Given the description of an element on the screen output the (x, y) to click on. 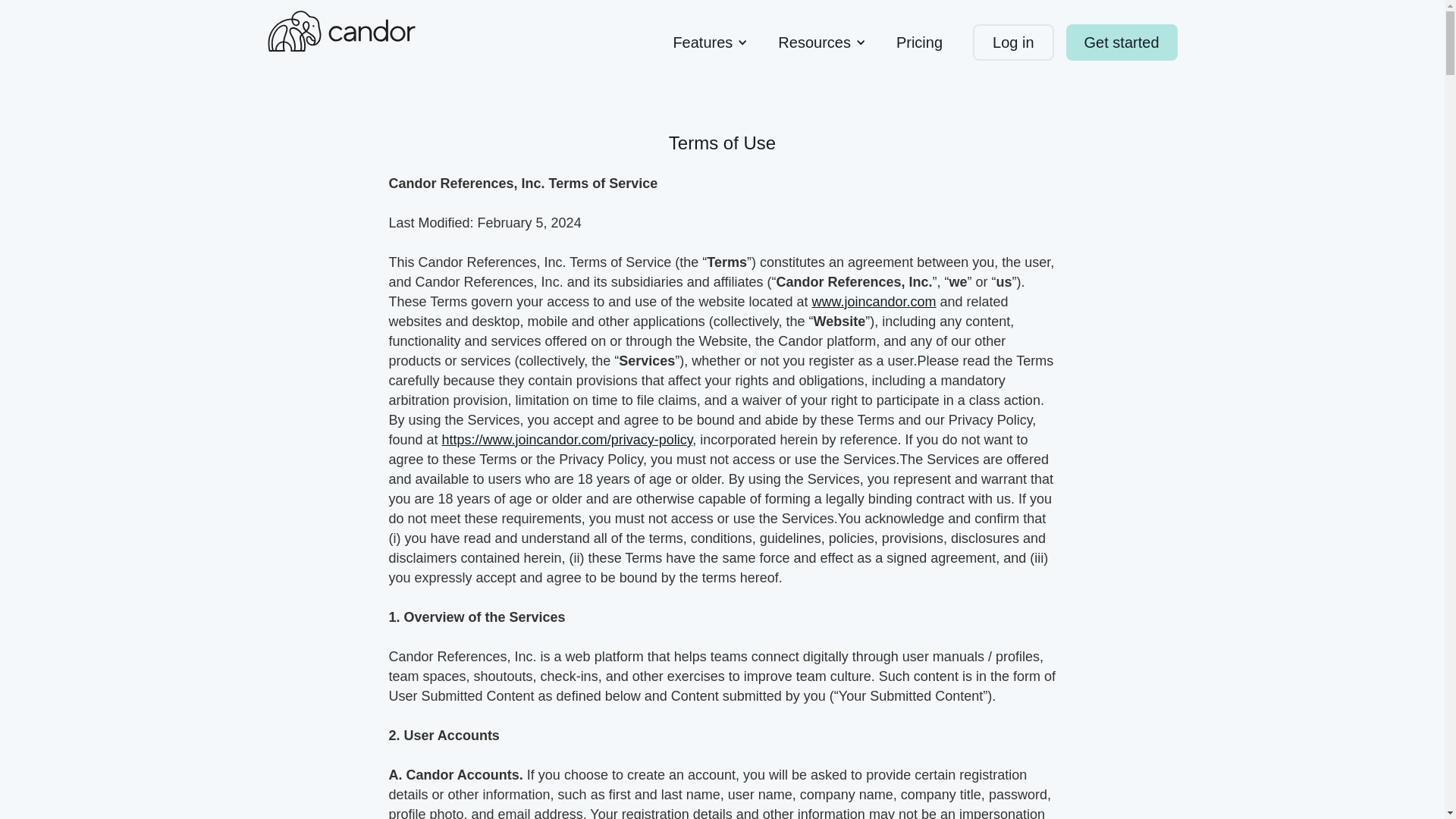
Pricing (919, 42)
www.joincandor.com (873, 301)
Get started (1121, 42)
Log in (1013, 42)
